Given the description of an element on the screen output the (x, y) to click on. 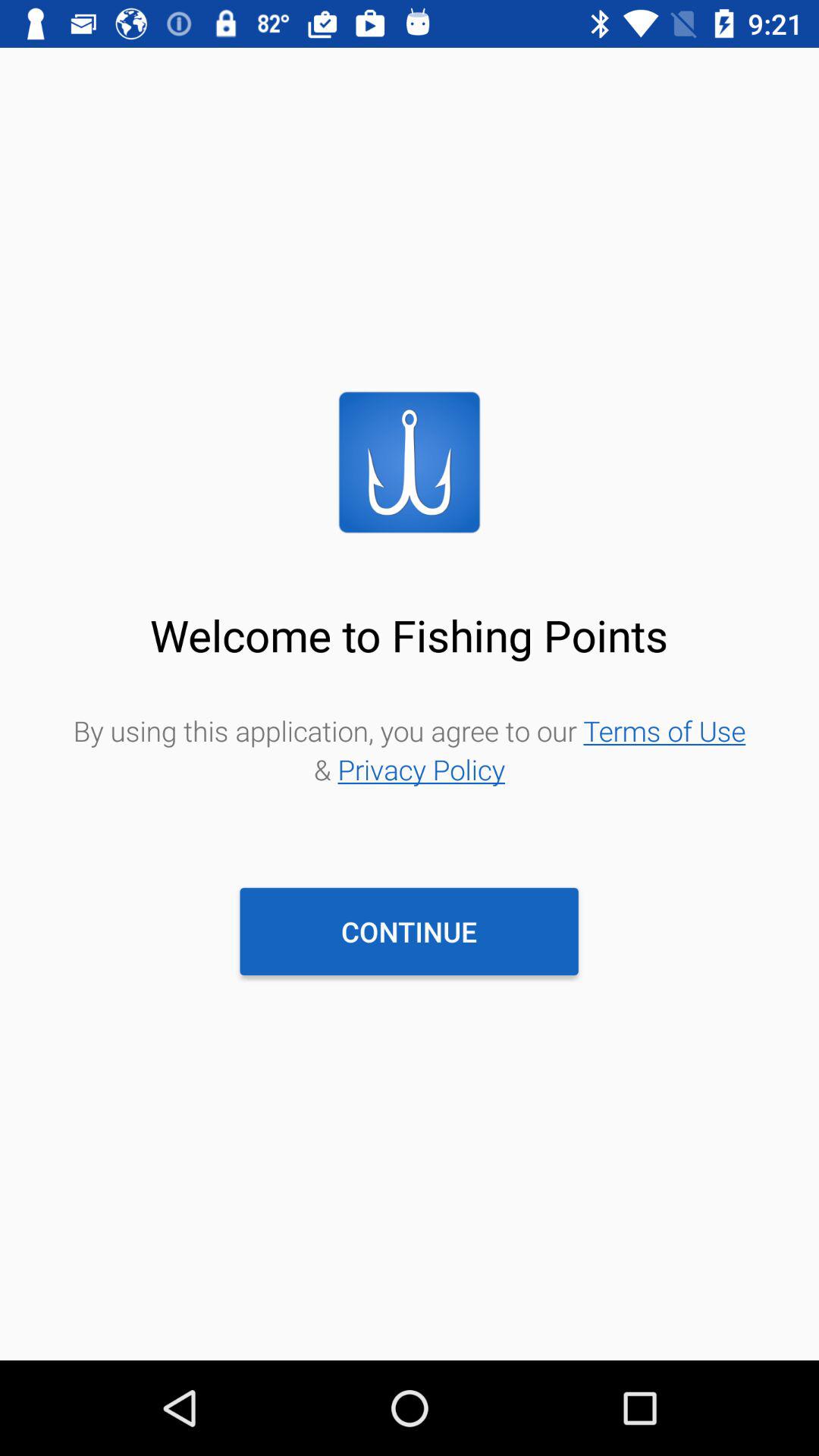
select the icon below welcome to fishing item (409, 750)
